Given the description of an element on the screen output the (x, y) to click on. 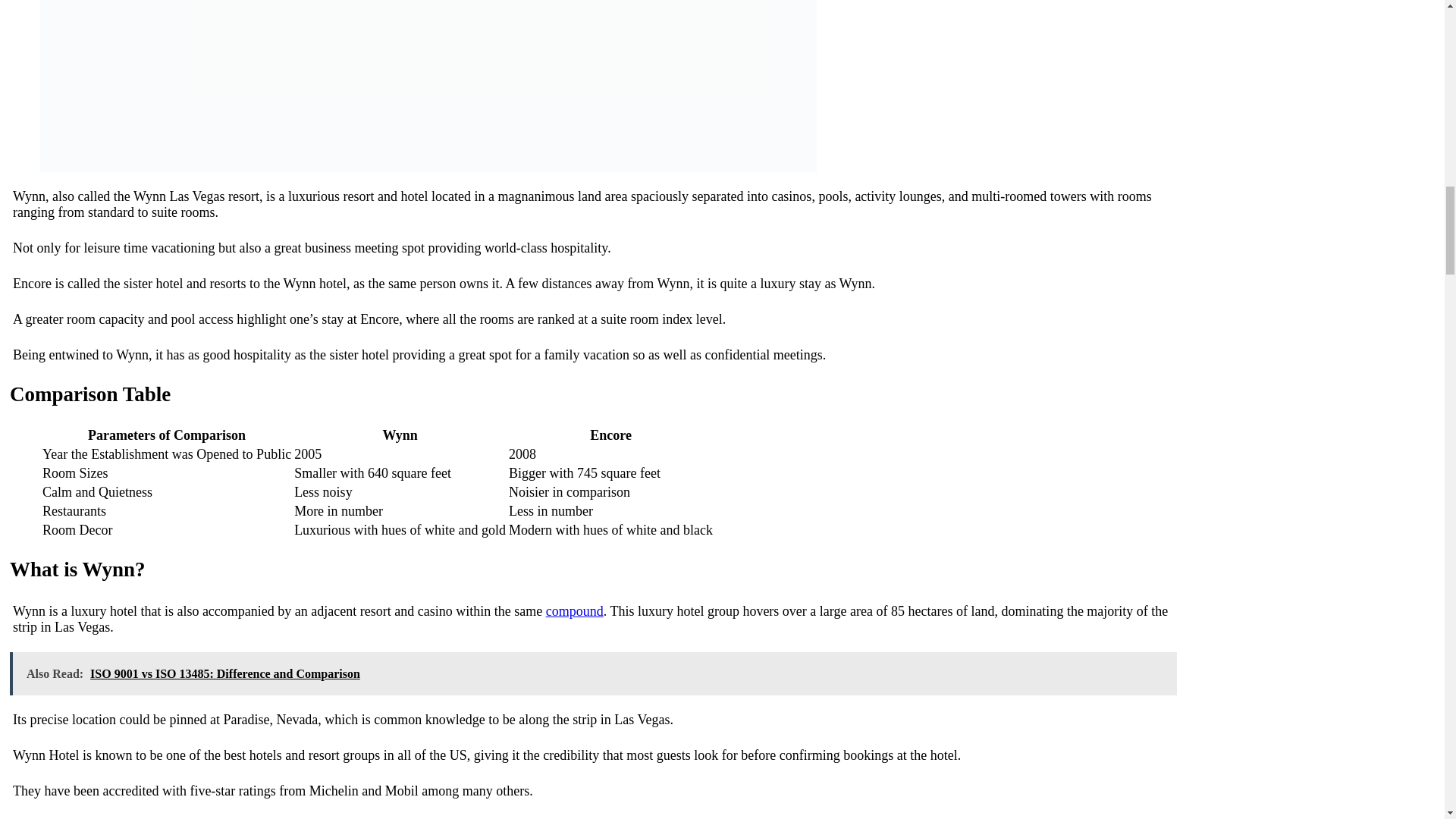
Also Read:  ISO 9001 vs ISO 13485: Difference and Comparison (593, 673)
compound (575, 611)
compound (575, 611)
